Given the description of an element on the screen output the (x, y) to click on. 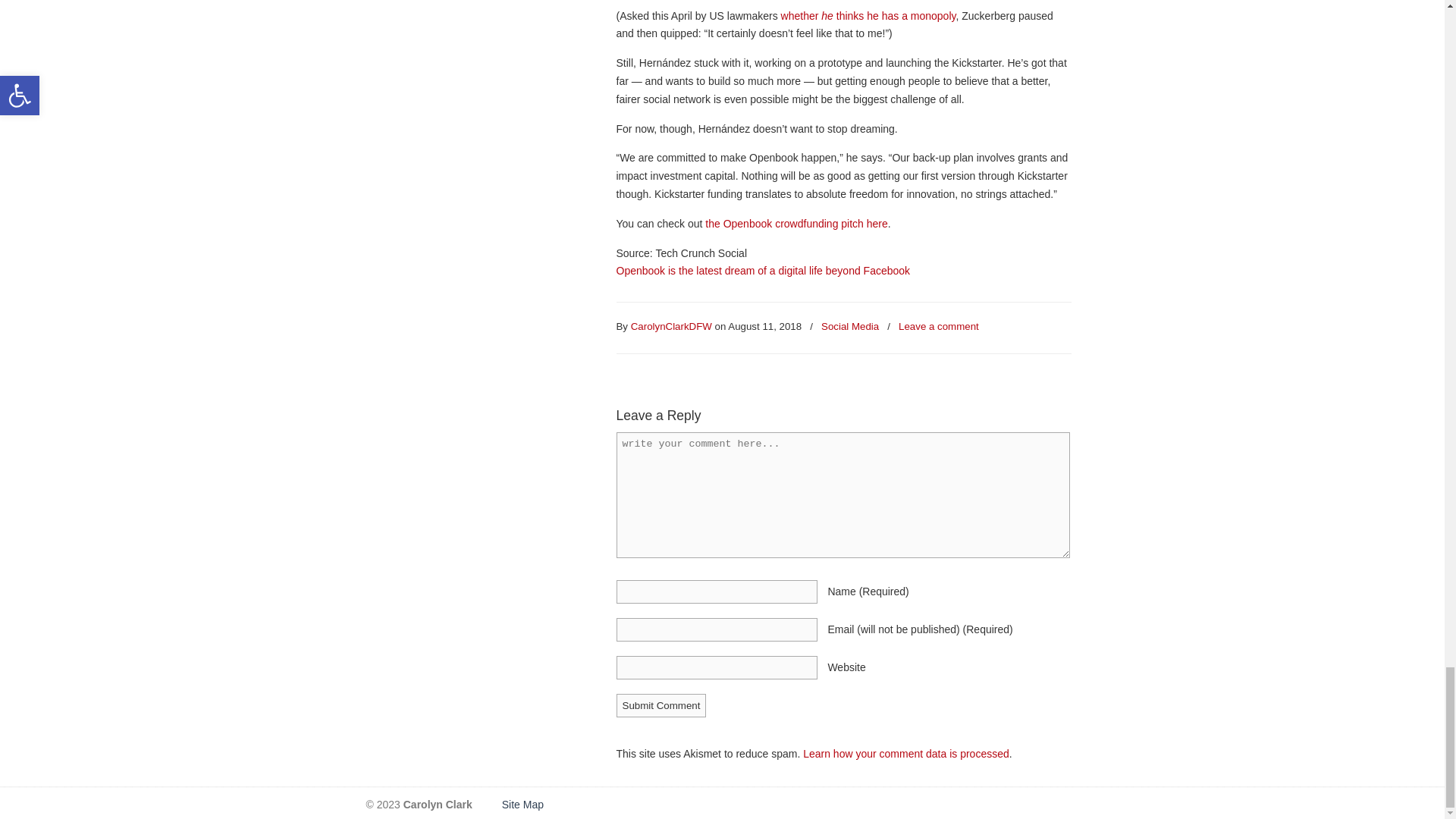
Posts by CarolynClarkDFW (670, 326)
Submit Comment (660, 705)
